Given the description of an element on the screen output the (x, y) to click on. 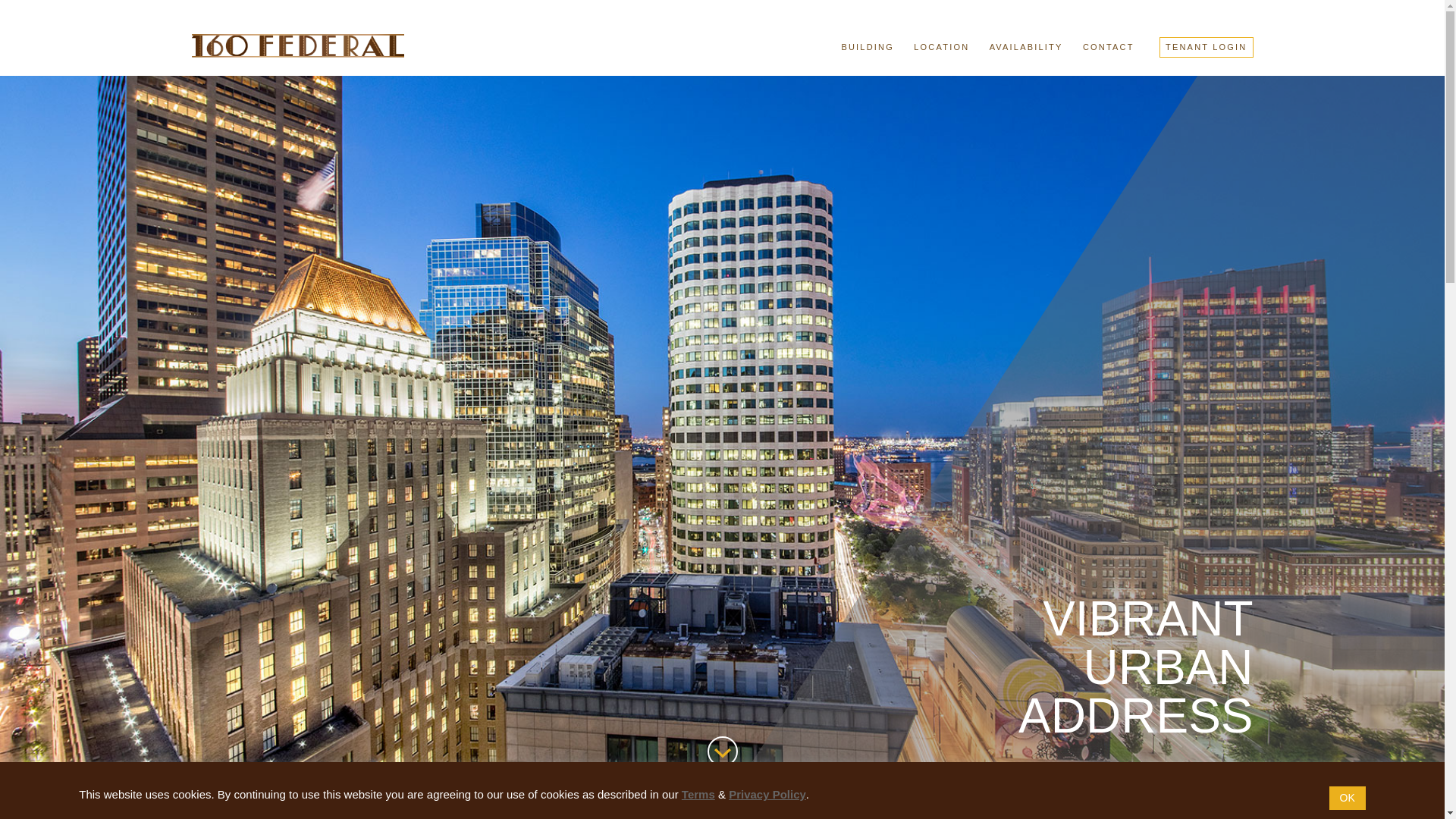
LOCATION Element type: text (941, 49)
CONTACT Element type: text (1108, 49)
Privacy Policy Element type: text (767, 793)
Terms Element type: text (698, 793)
BUILDING Element type: text (867, 49)
OK Element type: text (1347, 797)
AVAILABILITY Element type: text (1026, 49)
TENANT LOGIN Element type: text (1206, 47)
